Given the description of an element on the screen output the (x, y) to click on. 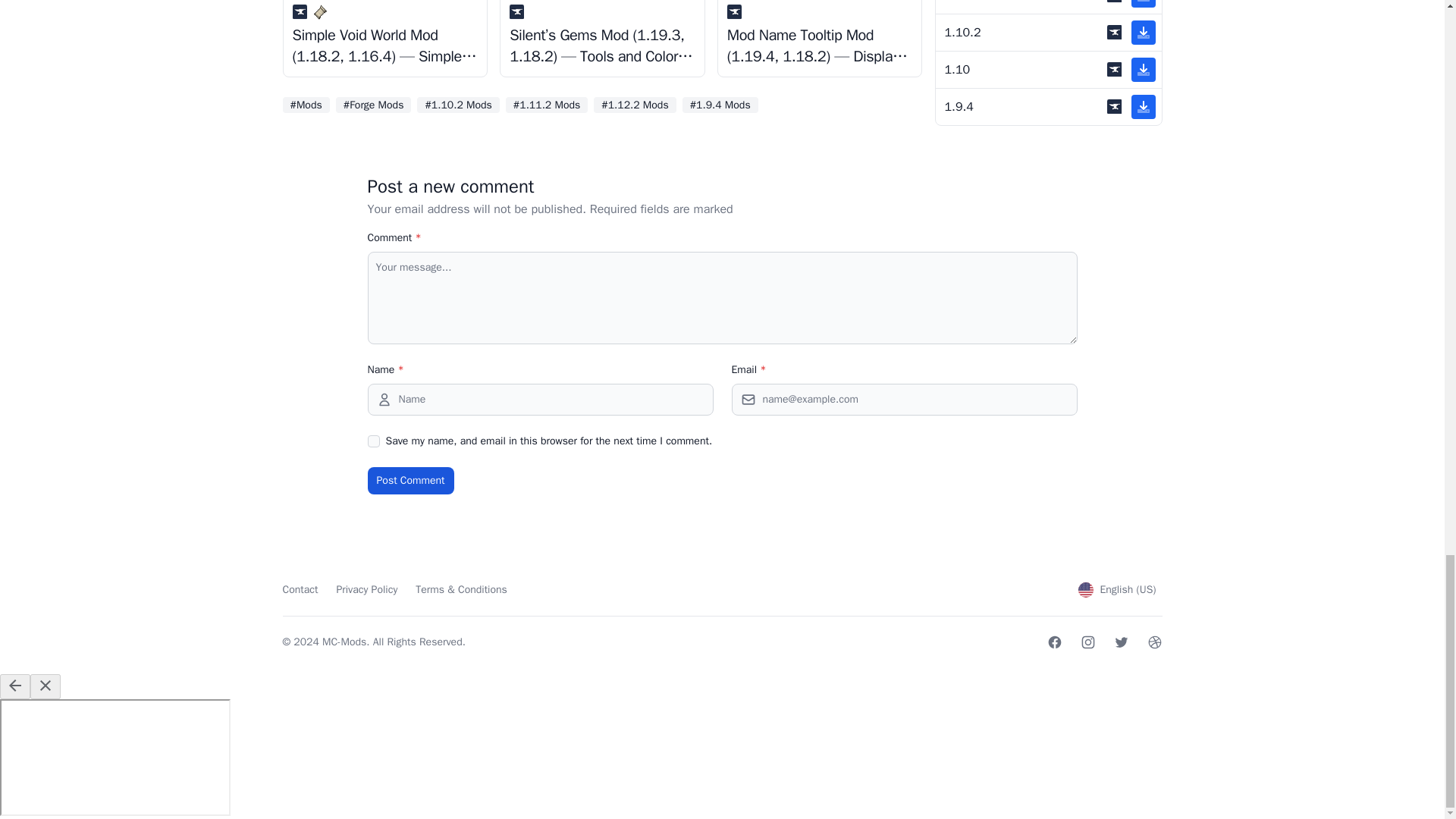
Minecraft 1.12.2 Mods (634, 105)
yes (372, 440)
Minecraft 1.11.2 Mods (546, 105)
Forge Mods (374, 105)
Minecraft Mods (305, 105)
Minecraft 1.10.2 Mods (457, 105)
Minecraft 1.9.4 Mods (720, 105)
Post Comment (409, 480)
